Given the description of an element on the screen output the (x, y) to click on. 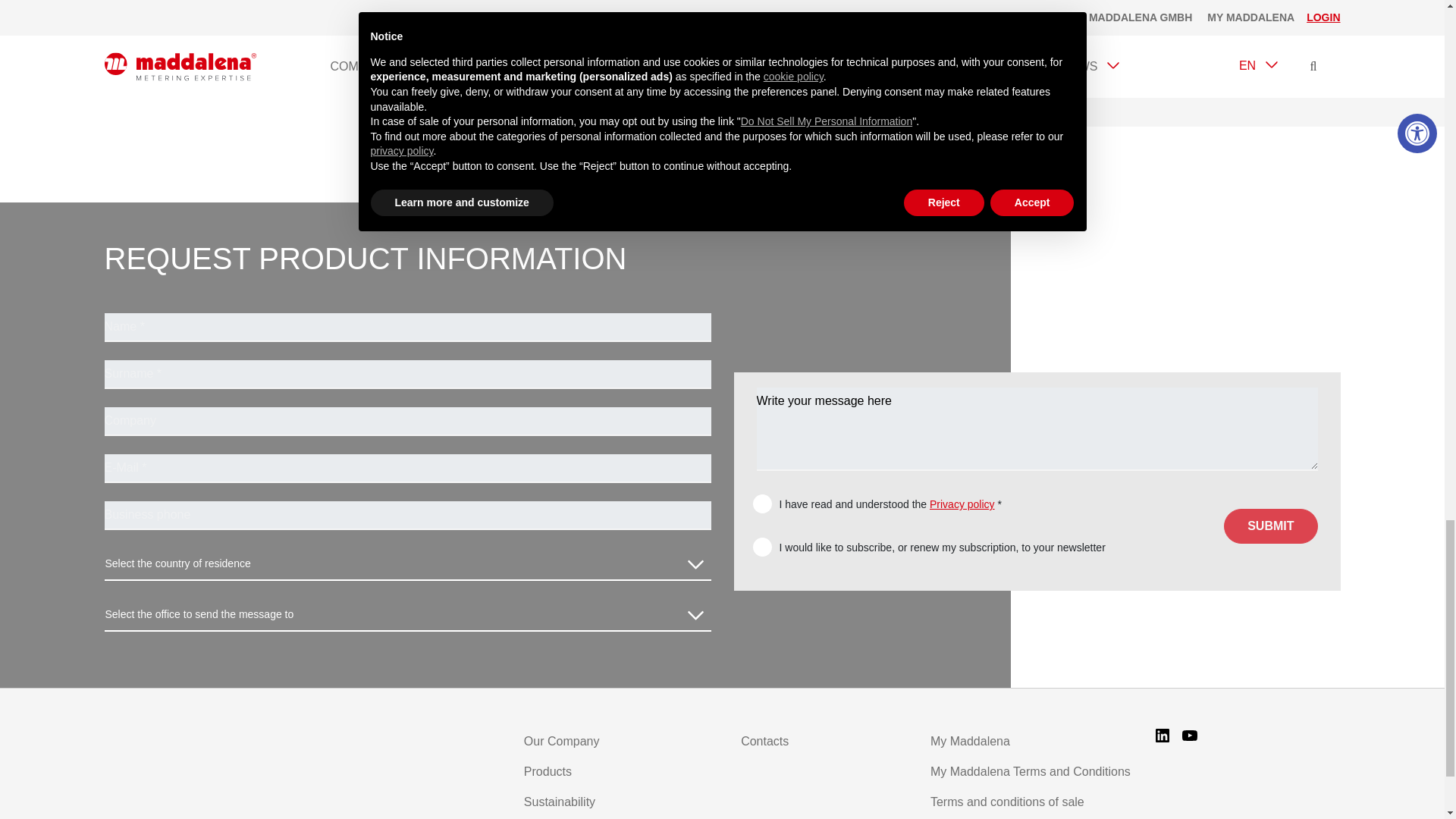
SUBMIT (1270, 525)
Vai alla homepage (208, 744)
